Given the description of an element on the screen output the (x, y) to click on. 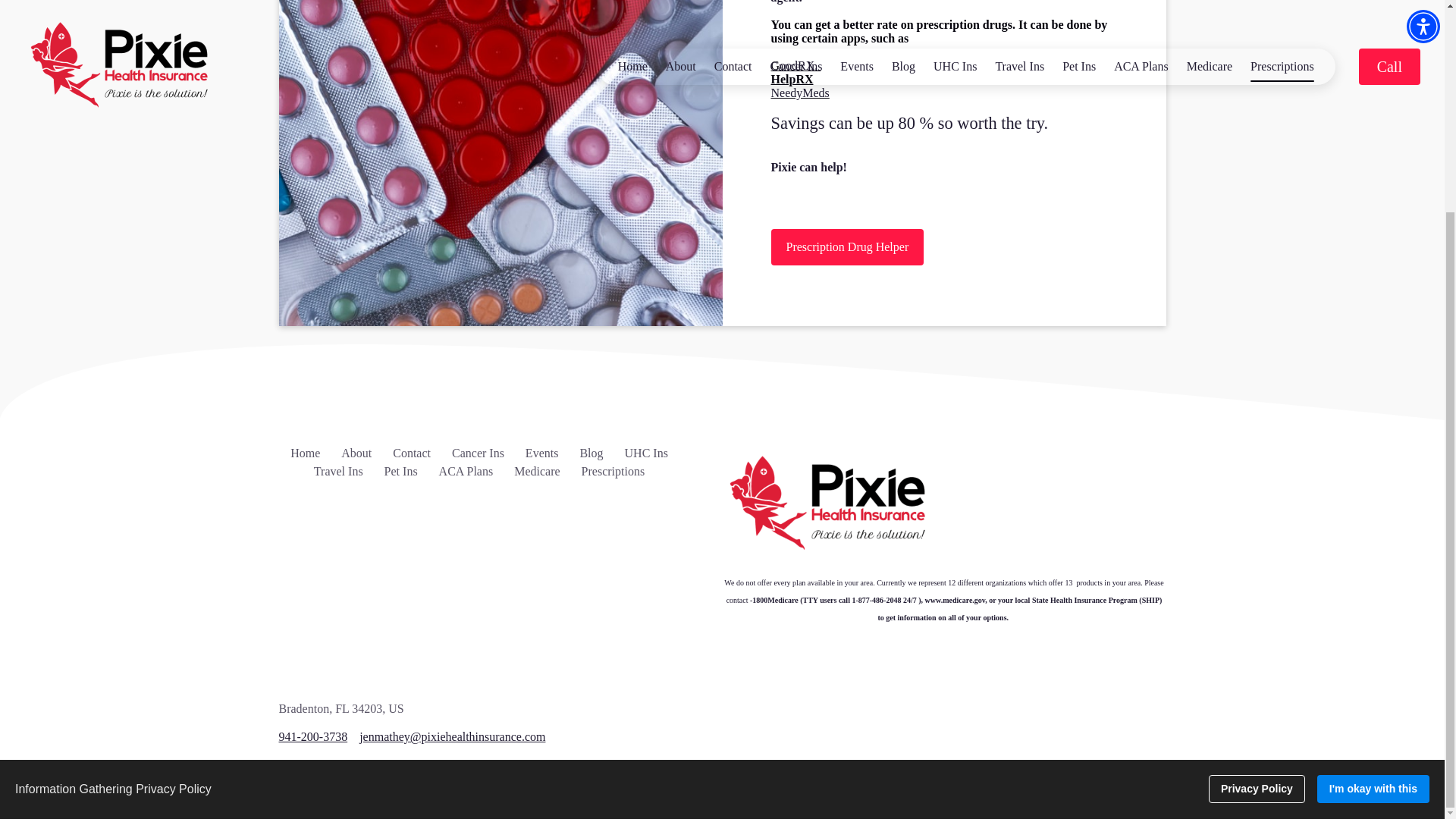
Contact (411, 452)
Pet Ins (400, 471)
NeedyMeds (799, 99)
Events (542, 452)
ACA Plans (466, 471)
Cancer Ins (477, 452)
About (355, 452)
Medicare (536, 471)
UHC Ins (646, 452)
Prescription Drug Helper (846, 247)
941-200-3738 (313, 737)
Prescriptions (612, 471)
Travel Ins (338, 471)
Blog (590, 452)
GoodRX.  (795, 65)
